Given the description of an element on the screen output the (x, y) to click on. 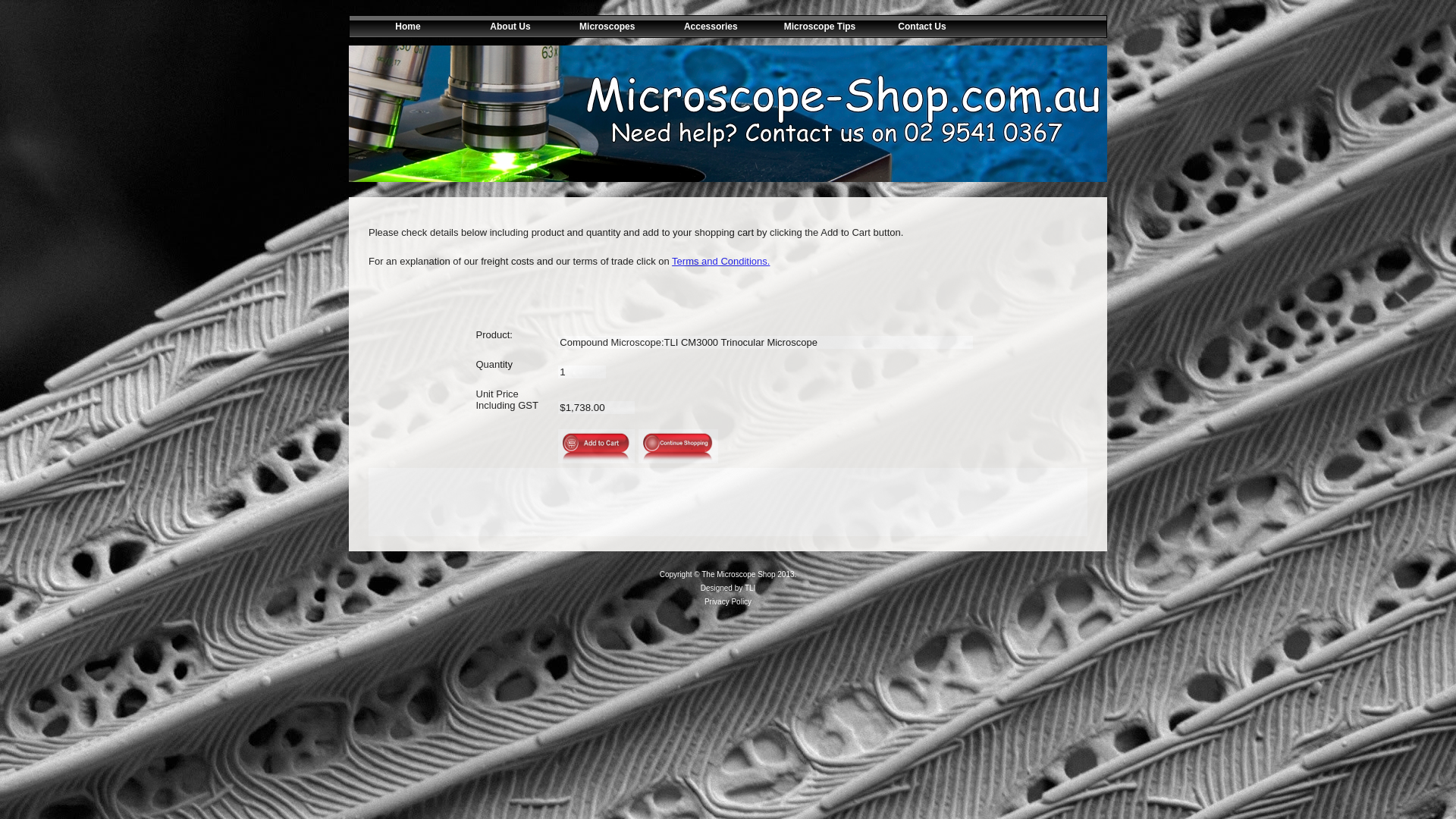
TLI Element type: text (749, 587)
Accessories Element type: text (709, 26)
Microscope Tips Element type: text (812, 26)
About Us Element type: text (502, 26)
Contact Us Element type: text (914, 26)
Microscope Shop Element type: hover (727, 113)
Home Element type: text (400, 26)
             Element type: text (1036, 26)
Privacy Policy Element type: text (727, 601)
Microscopes Element type: text (606, 26)
Terms and Conditions. Element type: text (720, 260)
